Given the description of an element on the screen output the (x, y) to click on. 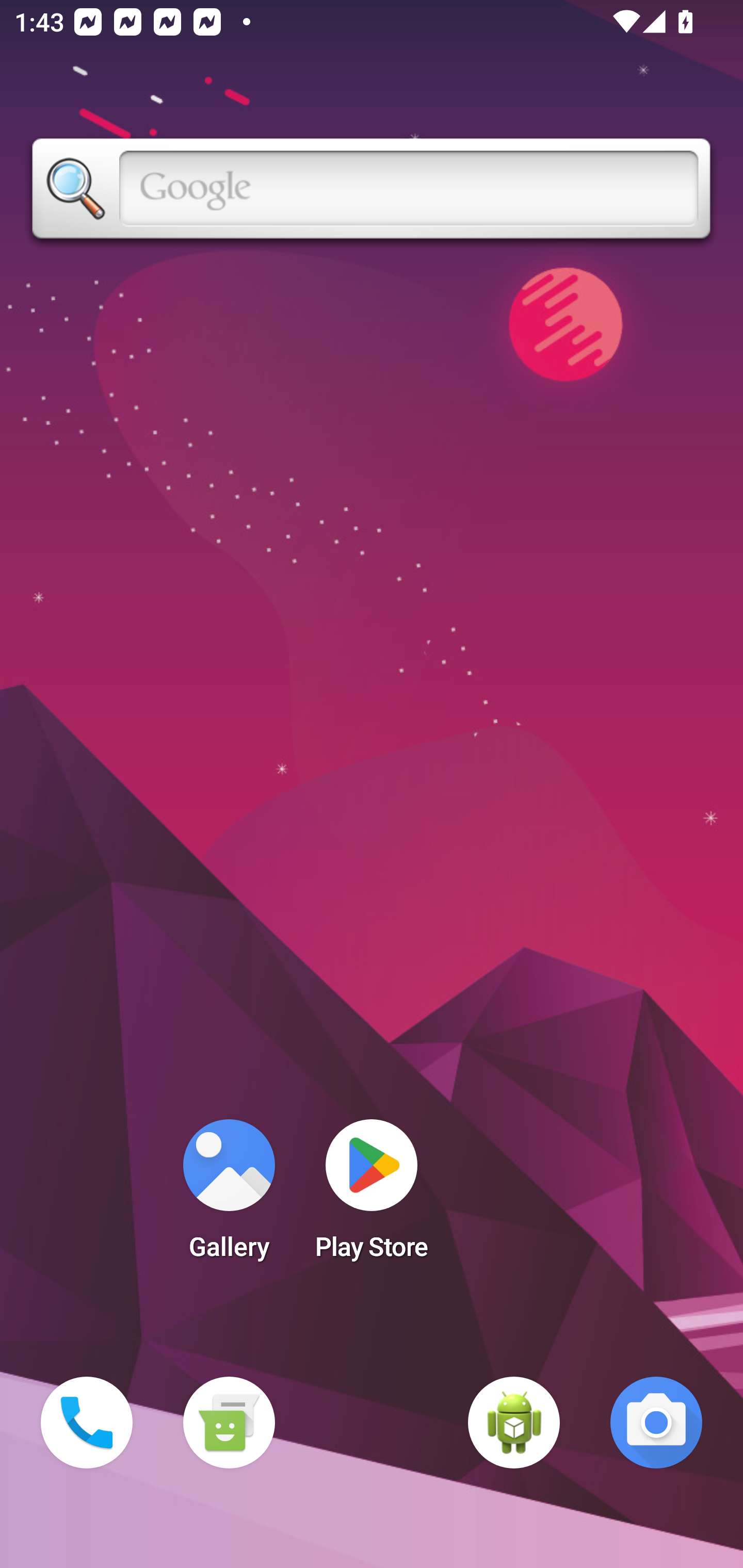
Gallery (228, 1195)
Play Store (371, 1195)
Phone (86, 1422)
Messaging (228, 1422)
WebView Browser Tester (513, 1422)
Camera (656, 1422)
